Given the description of an element on the screen output the (x, y) to click on. 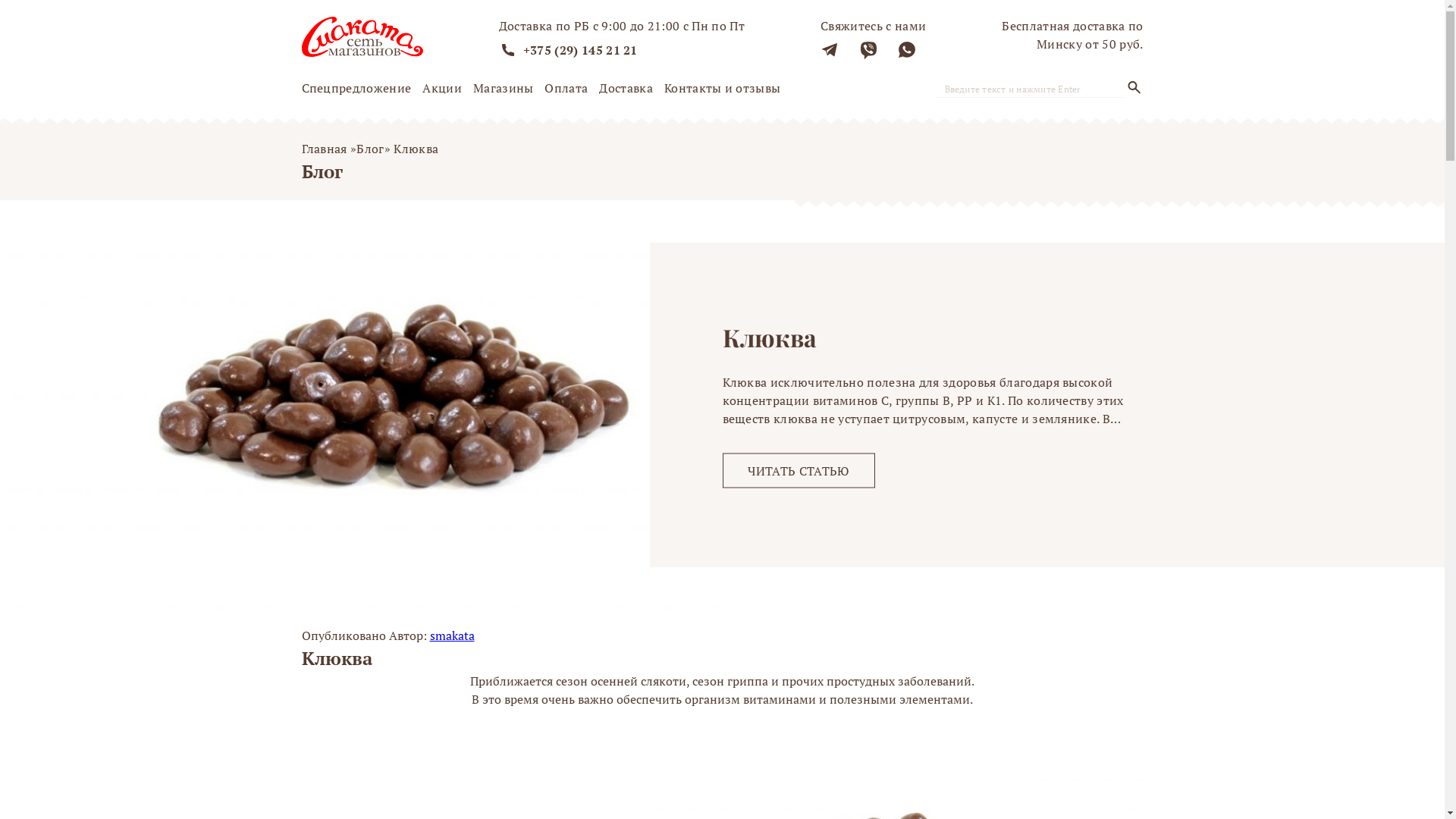
smakata Element type: text (451, 635)
+375 (29) 145 21 21 Element type: text (580, 49)
